Given the description of an element on the screen output the (x, y) to click on. 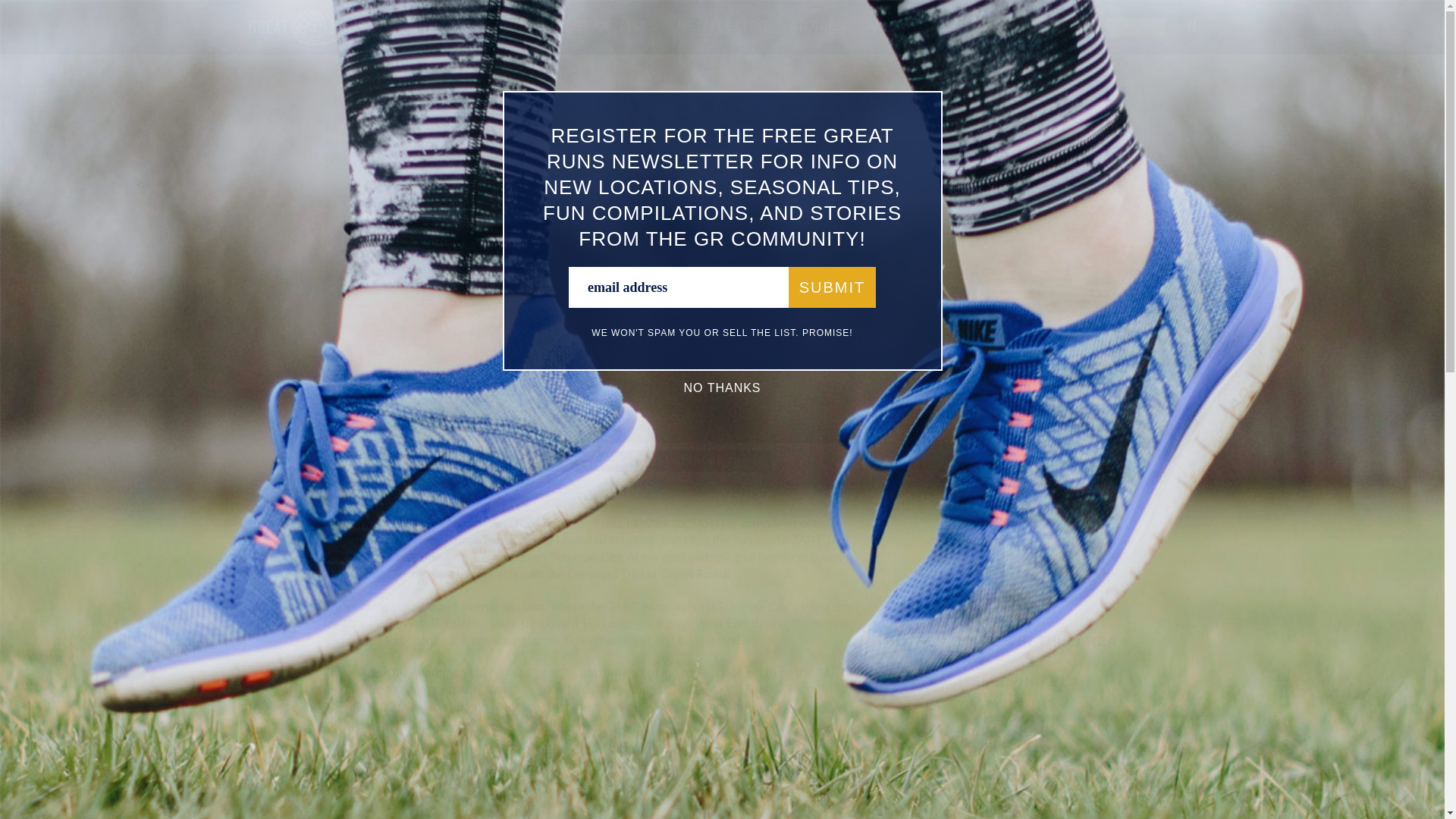
Great Runs (319, 41)
Submit (832, 286)
ABOUT (412, 25)
Submit (832, 286)
LOCATIONS (494, 25)
